Given the description of an element on the screen output the (x, y) to click on. 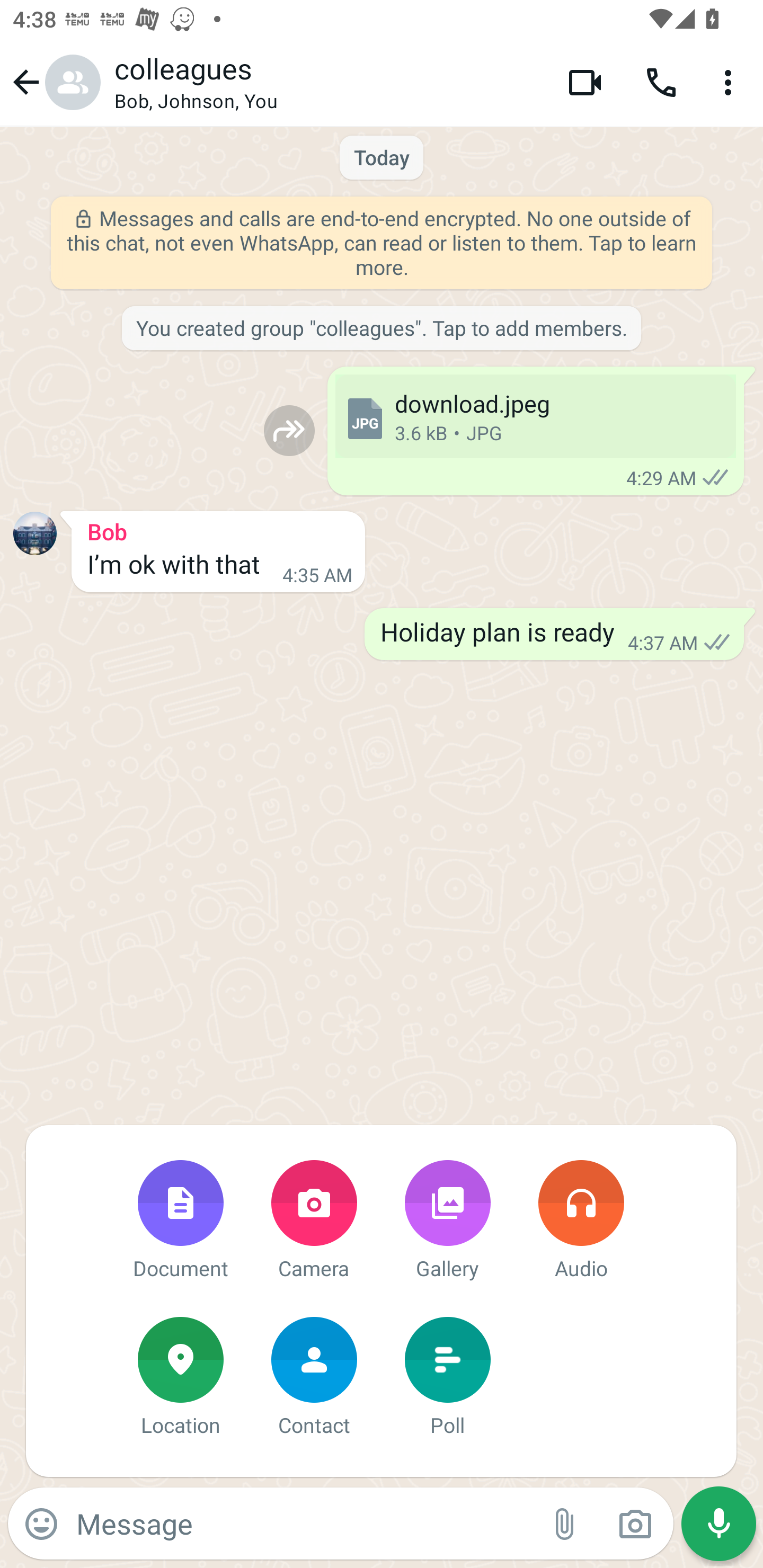
Document (180, 1221)
Camera (313, 1221)
Gallery (447, 1221)
Audio (580, 1221)
Location (180, 1378)
Contact (313, 1378)
Poll (447, 1378)
